Given the description of an element on the screen output the (x, y) to click on. 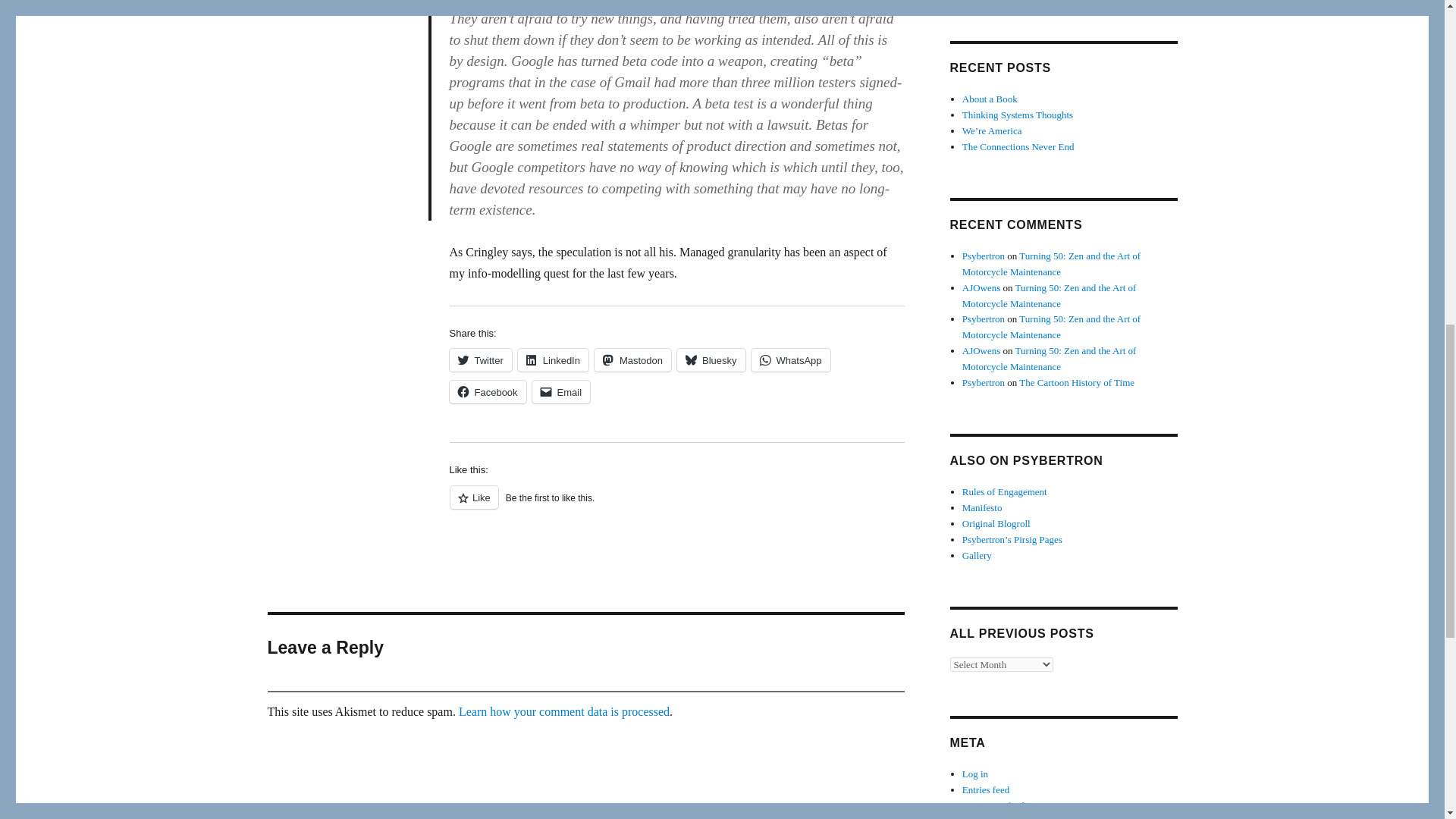
Psybertron (983, 255)
Mastodon (632, 359)
About a Book (989, 98)
Learn how your comment data is processed (563, 711)
Bluesky (711, 359)
Click to share on Twitter (479, 359)
Turning 50: Zen and the Art of Motorcycle Maintenance (1051, 263)
WhatsApp (790, 359)
Email (561, 391)
AJOwens (981, 287)
Click to share on Mastodon (632, 359)
Click to share on Bluesky (711, 359)
Twitter (479, 359)
Facebook (486, 391)
LinkedIn (553, 359)
